Given the description of an element on the screen output the (x, y) to click on. 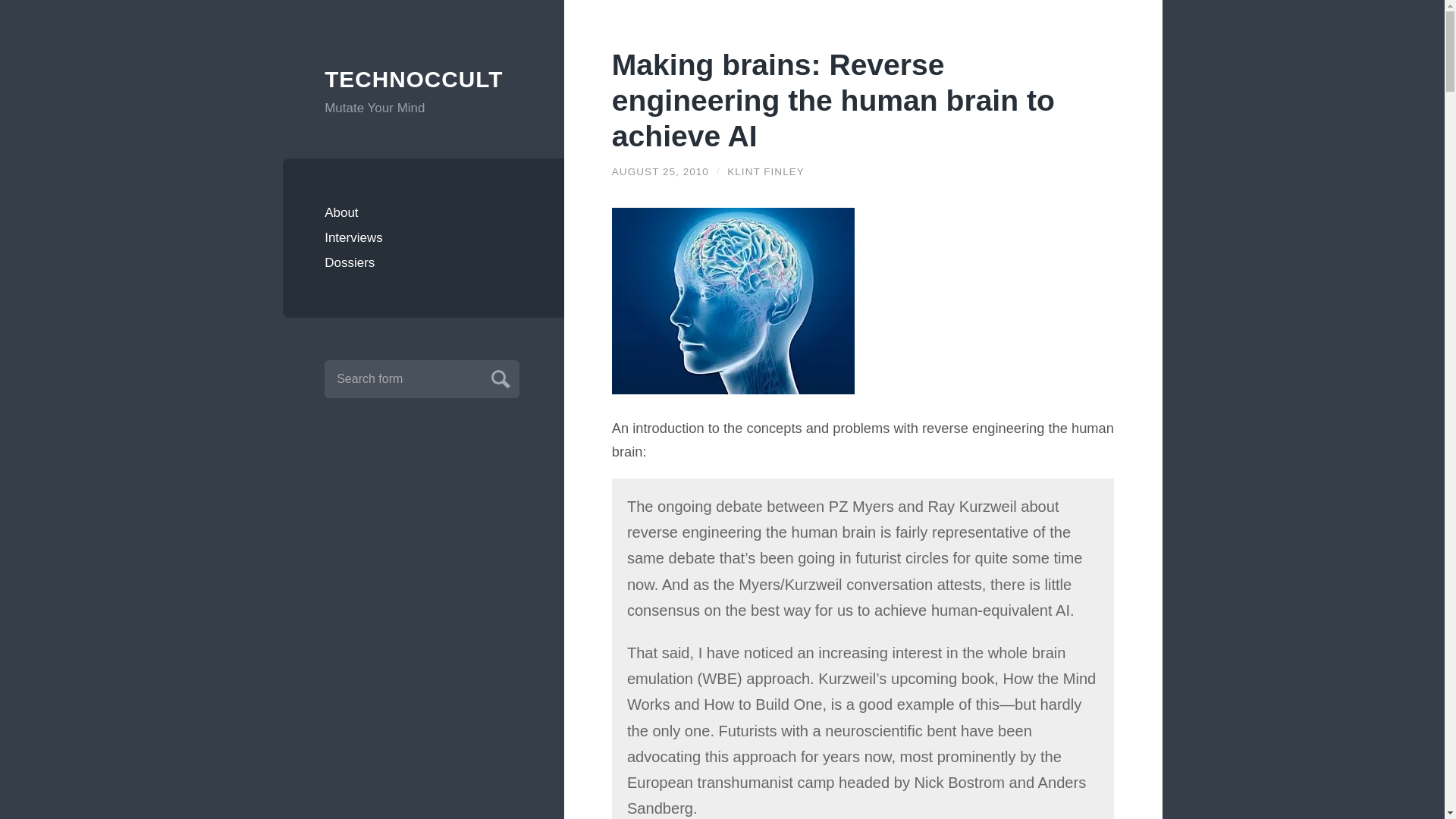
TECHNOCCULT (422, 79)
Brain (732, 300)
About (422, 212)
Search (498, 377)
Dossiers (422, 262)
Posts by Klint Finley (765, 171)
Submit (498, 377)
